Given the description of an element on the screen output the (x, y) to click on. 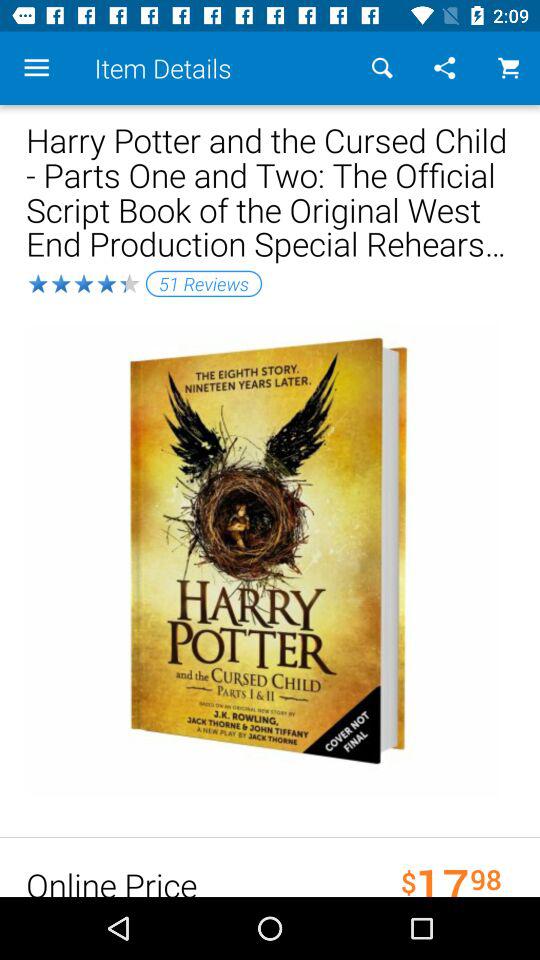
click the app next to the item details item (381, 67)
